Given the description of an element on the screen output the (x, y) to click on. 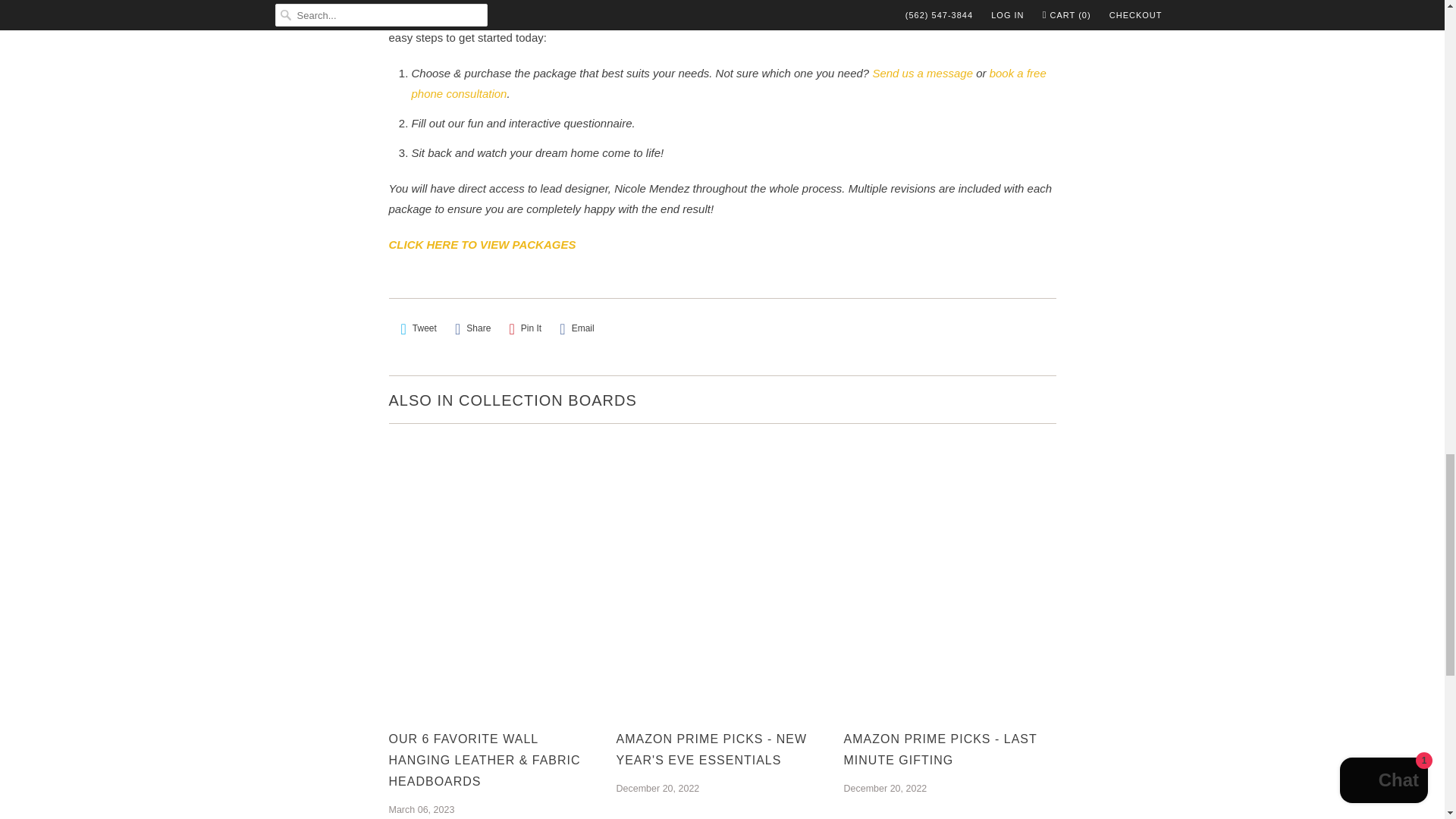
interior design packages (481, 244)
Share this on Facebook (472, 328)
Share this on Twitter (418, 328)
Email this to a friend (576, 328)
Share this on Pinterest (526, 328)
Amazon Prime Picks - New Year's Eve Essentials (721, 749)
